Given the description of an element on the screen output the (x, y) to click on. 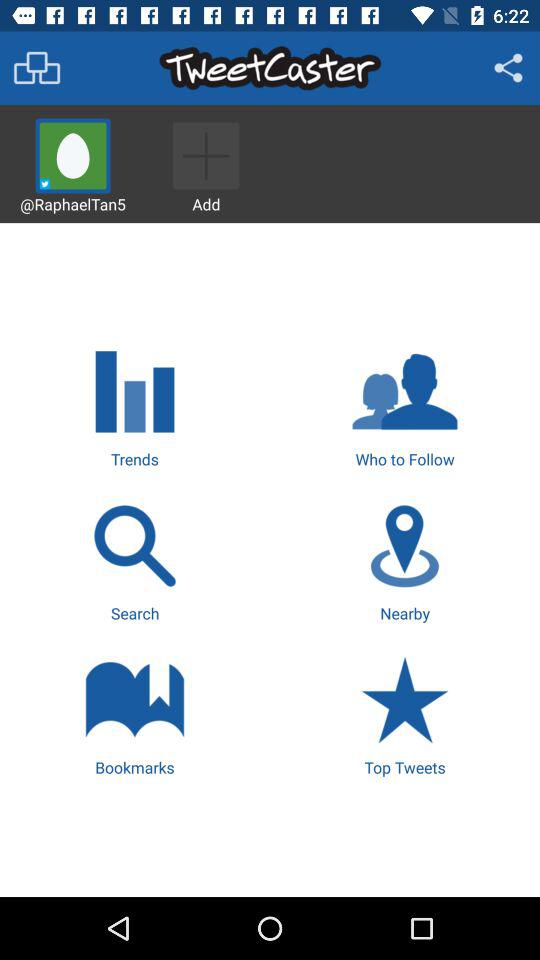
turn on the item below search (134, 714)
